Given the description of an element on the screen output the (x, y) to click on. 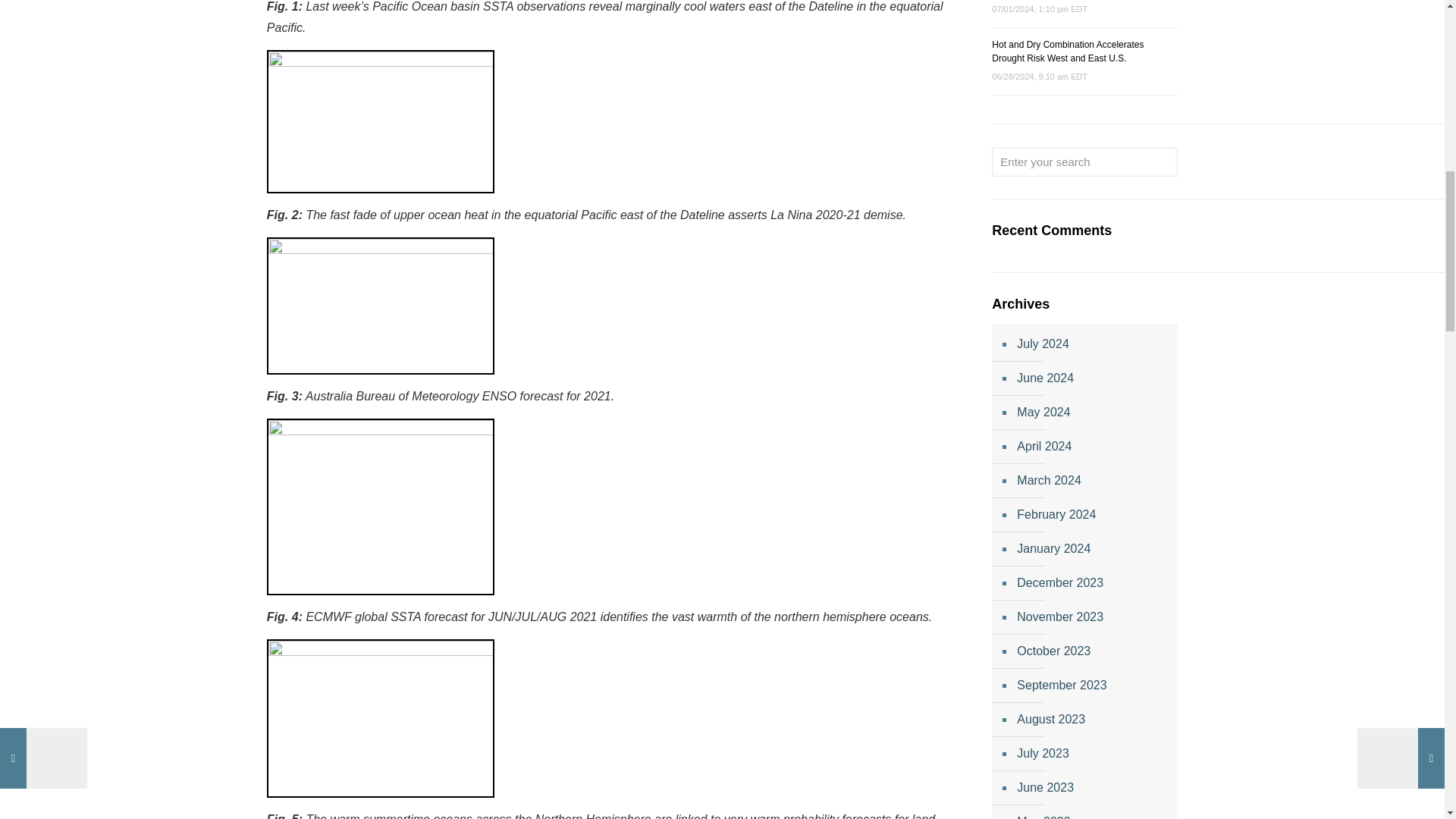
May 2024 (1091, 412)
June 2023 (1091, 788)
October 2023 (1091, 651)
December 2023 (1091, 583)
July 2024 (1091, 344)
June 2024 (1091, 378)
May 2023 (1091, 812)
February 2024 (1091, 514)
January 2024 (1091, 549)
September 2023 (1091, 685)
April 2024 (1091, 446)
July 2023 (1091, 754)
November 2023 (1091, 617)
August 2023 (1091, 719)
